Given the description of an element on the screen output the (x, y) to click on. 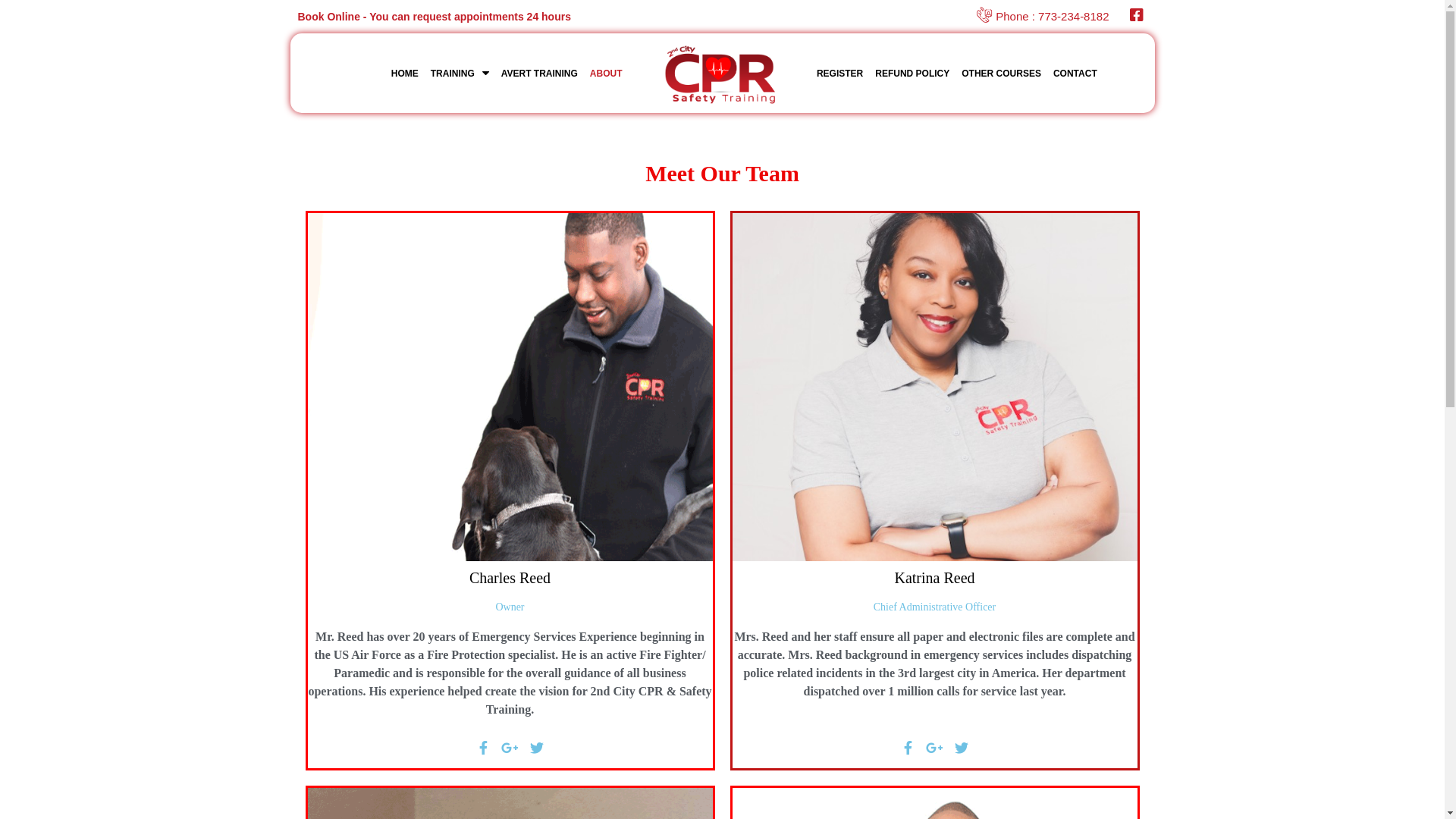
REGISTER Element type: text (839, 73)
TRAINING Element type: text (459, 73)
Phone : 773-234-8182 Element type: text (1042, 16)
HOME Element type: text (404, 73)
AVERT TRAINING Element type: text (539, 73)
OTHER COURSES Element type: text (1001, 73)
REFUND POLICY Element type: text (912, 73)
Book Online - You can request appointments 24 hours Element type: text (433, 16)
ABOUT Element type: text (605, 73)
CONTACT Element type: text (1075, 73)
